Given the description of an element on the screen output the (x, y) to click on. 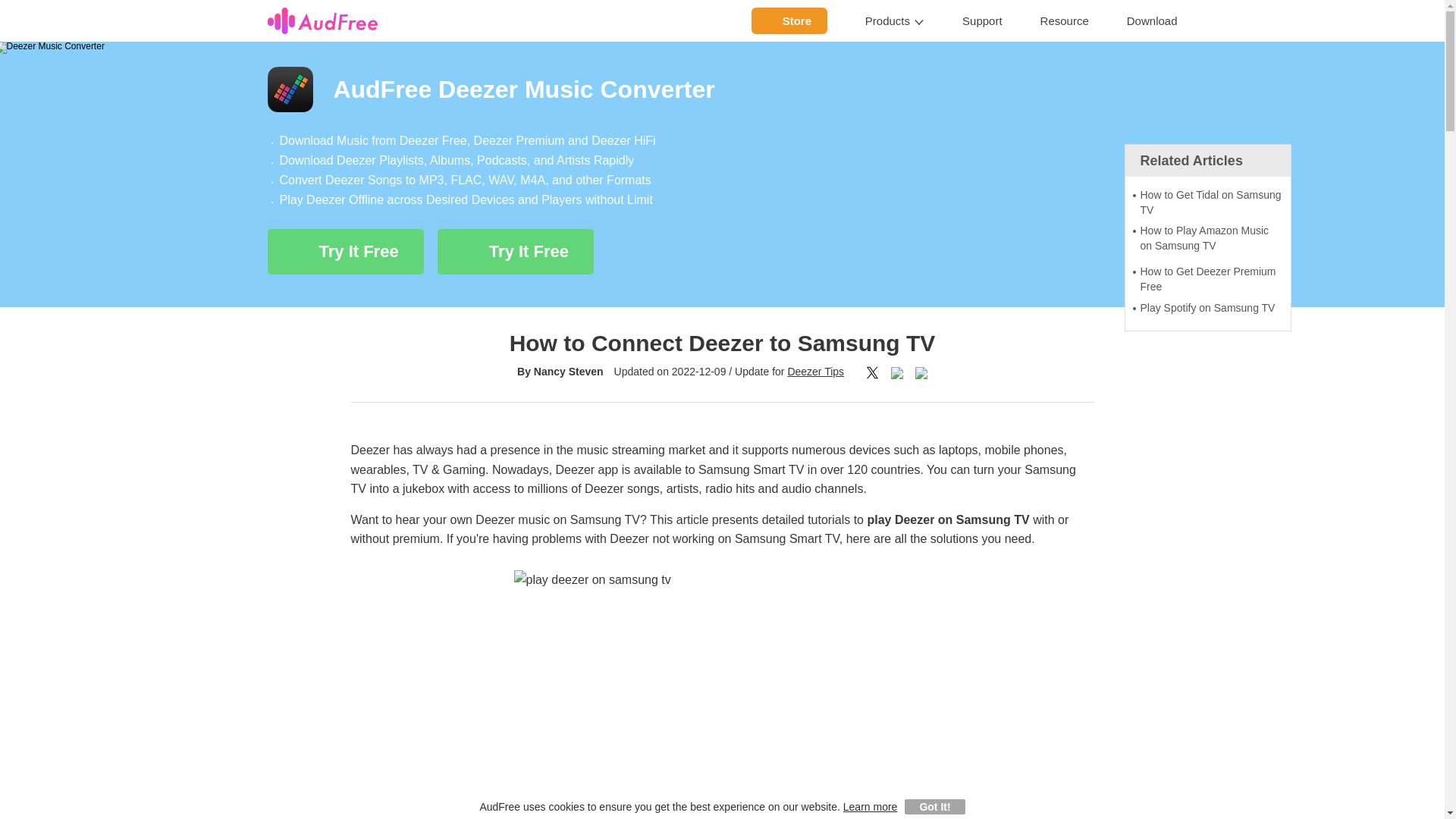
Store (789, 20)
Resource (1065, 20)
How to Get Deezer Premium Free (1207, 279)
Try It Free (344, 251)
Download (1152, 20)
Deezer Tips (815, 371)
AudFree Deezer Music Converter (721, 89)
How to Play Amazon Music on Samsung TV (1207, 238)
Try It Free (516, 251)
How to Get Tidal on Samsung TV (1207, 202)
Support (982, 20)
Products (894, 20)
Nancy Steven (569, 371)
Play Spotify on Samsung TV (1207, 308)
